Given the description of an element on the screen output the (x, y) to click on. 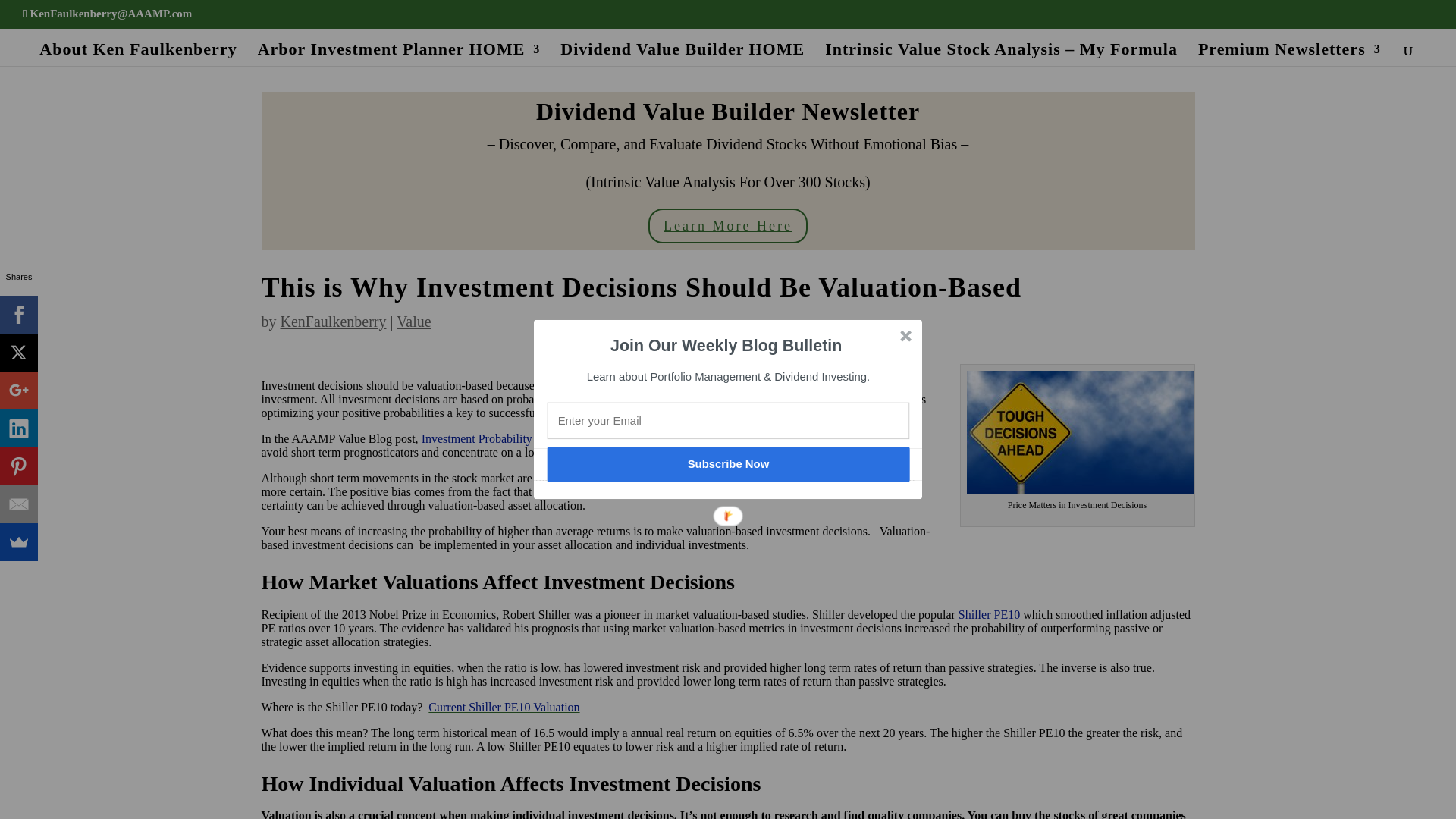
Current Shiller PE10 Valuation (503, 707)
Posts by KenFaulkenberry (334, 321)
Learn More Here (727, 225)
ABOUT Ken Faulkenberry  (137, 55)
Value (413, 321)
Investment Probability Made Practical (515, 438)
About Ken Faulkenberry (137, 55)
Shiller PE10 (989, 614)
Premium Newsletters (1289, 55)
Arbor Investment Planner HOME (398, 55)
Arbor Investment Planner Home (398, 55)
KenFaulkenberry (334, 321)
DVB Home (682, 55)
Dividend Value Builder HOME (682, 55)
